Given the description of an element on the screen output the (x, y) to click on. 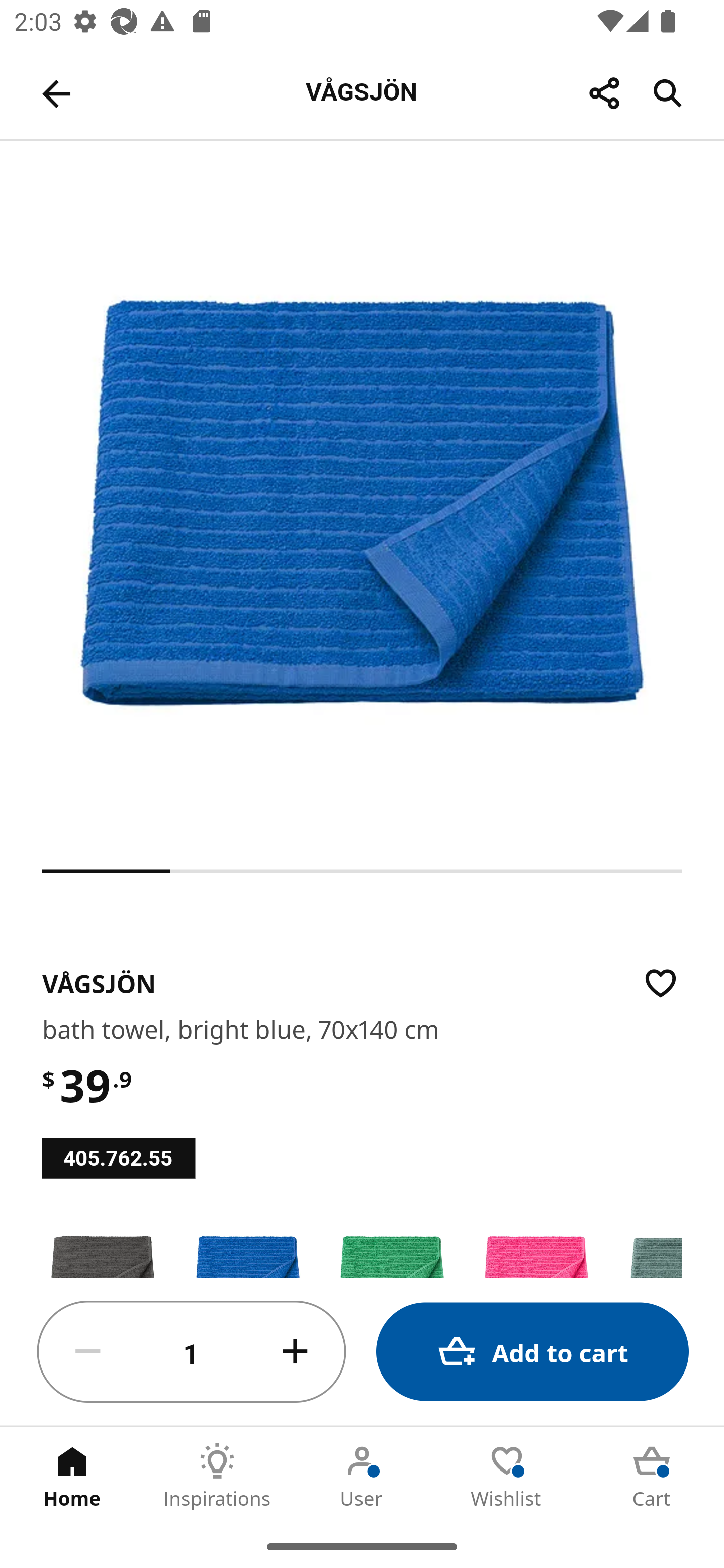
Add to cart (531, 1352)
1 (191, 1352)
Home
Tab 1 of 5 (72, 1476)
Inspirations
Tab 2 of 5 (216, 1476)
User
Tab 3 of 5 (361, 1476)
Wishlist
Tab 4 of 5 (506, 1476)
Cart
Tab 5 of 5 (651, 1476)
